Given the description of an element on the screen output the (x, y) to click on. 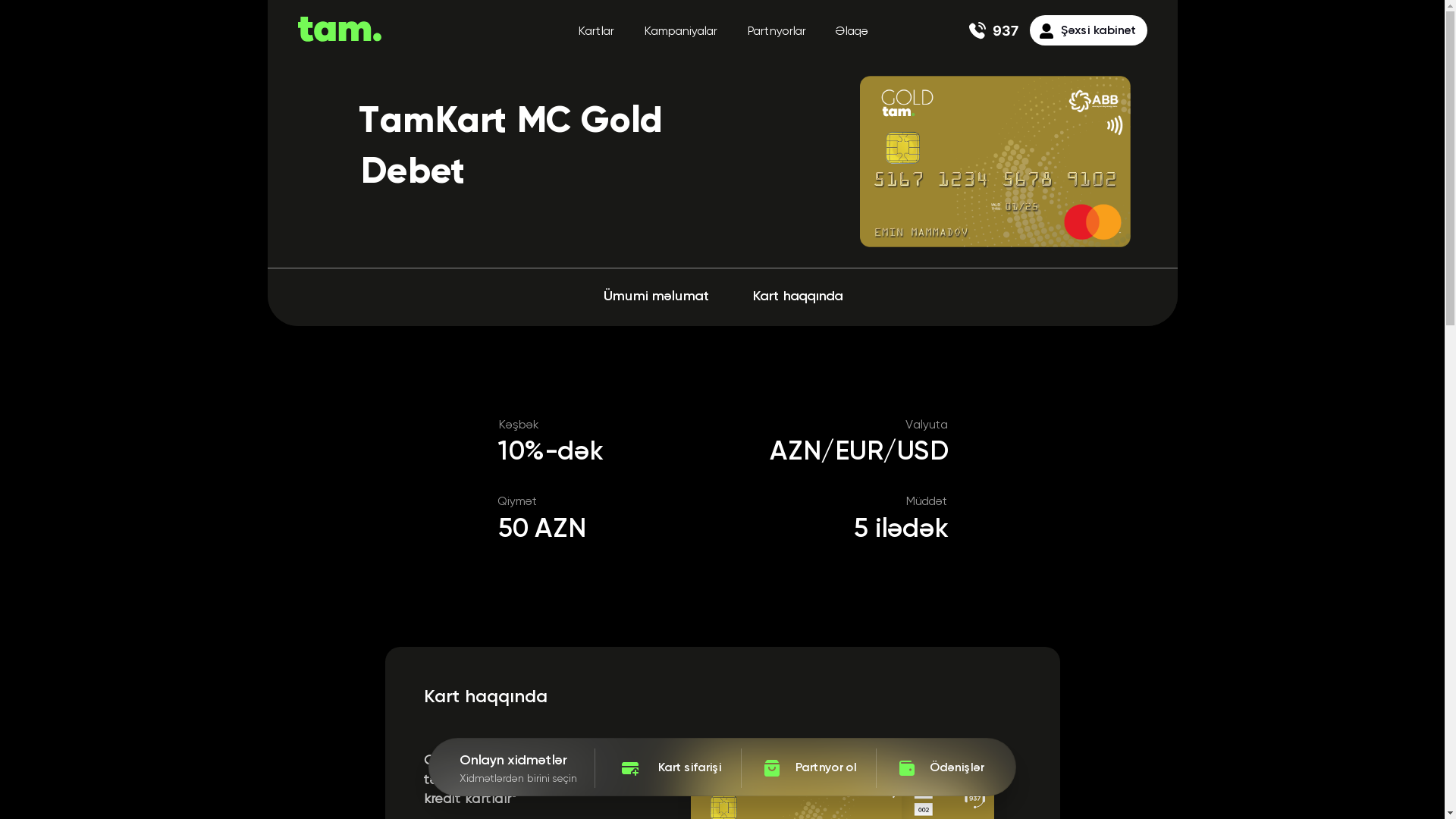
Kartlar Element type: text (595, 31)
Partnyor ol Element type: text (808, 767)
Partnyorlar Element type: text (775, 31)
Kampaniyalar Element type: text (679, 31)
